Given the description of an element on the screen output the (x, y) to click on. 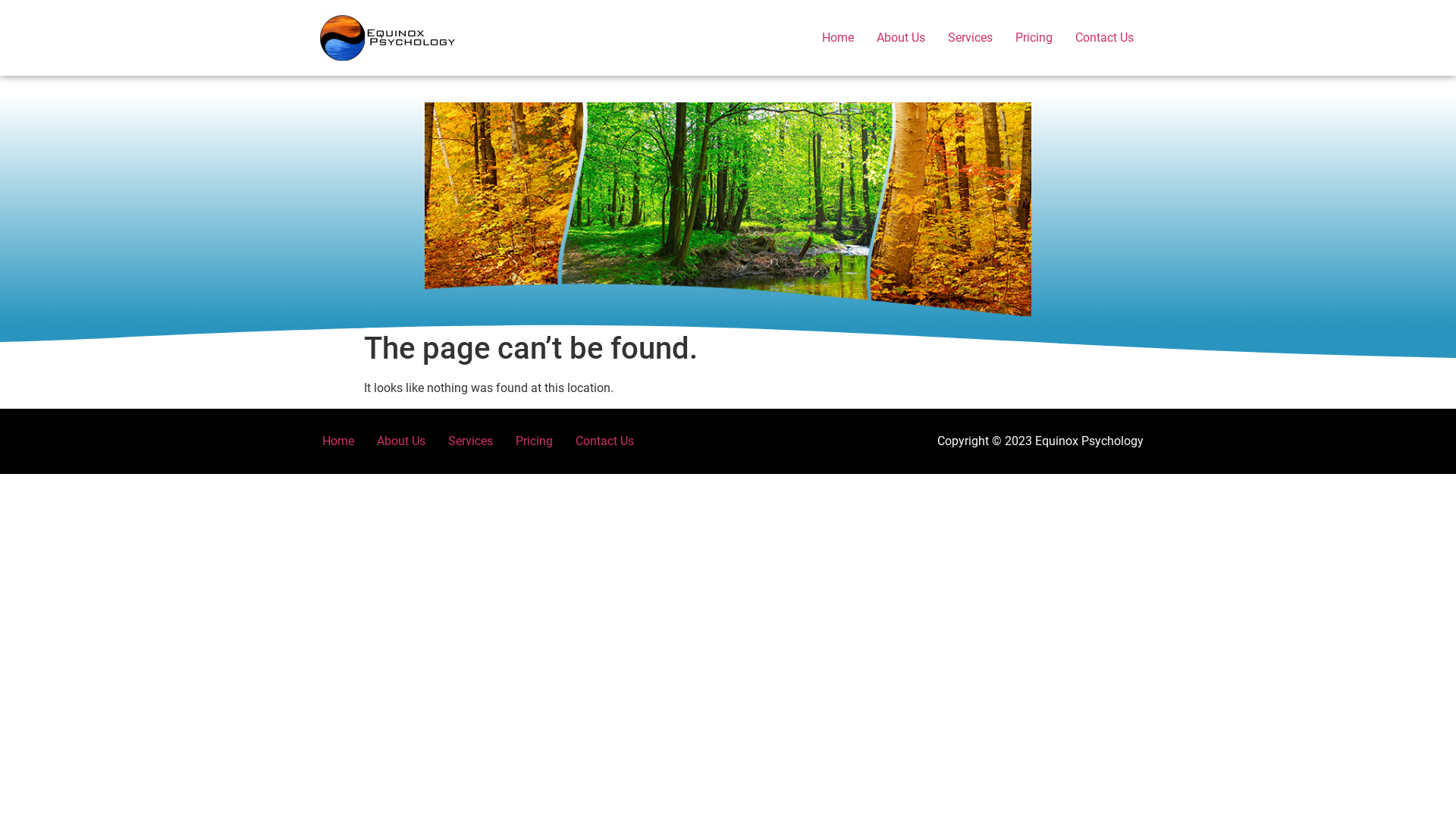
Home Element type: text (837, 37)
Pricing Element type: text (534, 440)
Services Element type: text (470, 440)
Equinox Psychology Bundaberg Element type: hover (388, 37)
Pricing Element type: text (1033, 37)
Services Element type: text (970, 37)
Home Element type: text (337, 440)
Contact Us Element type: text (1104, 37)
About Us Element type: text (900, 37)
Contact Us Element type: text (604, 440)
About Us Element type: text (400, 440)
